Given the description of an element on the screen output the (x, y) to click on. 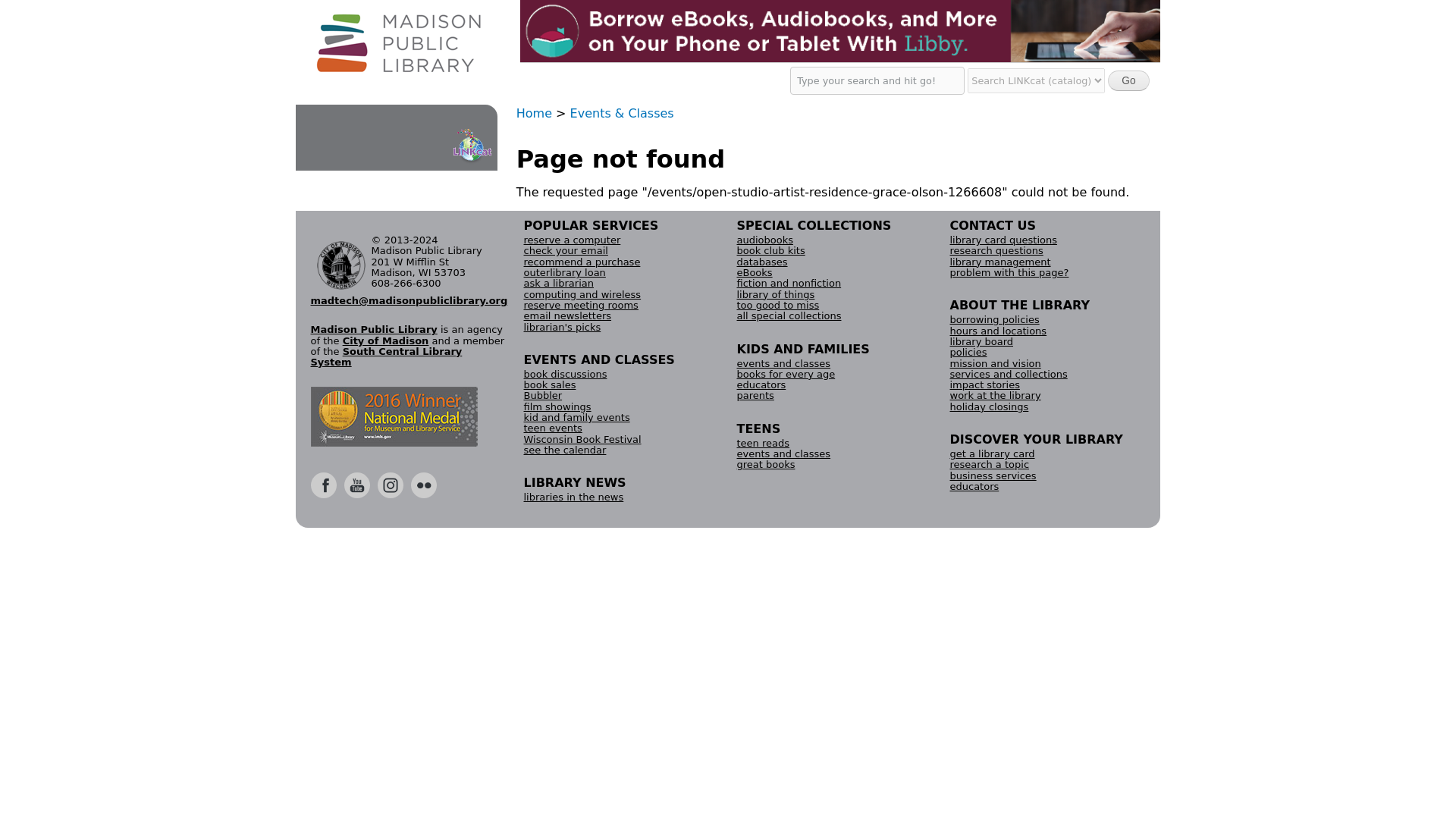
Go (1128, 80)
Wisconsin Book Festival (581, 439)
Home (533, 113)
reserve a computer (571, 239)
Bubbler (542, 395)
film showings (556, 406)
Enter the terms you wish to search for. (876, 80)
City of Madison (385, 340)
kid and family events (575, 417)
computing and wireless (581, 294)
Home (399, 43)
recommend a purchase (581, 261)
POPULAR SERVICES (590, 225)
ask a librarian (557, 283)
